Given the description of an element on the screen output the (x, y) to click on. 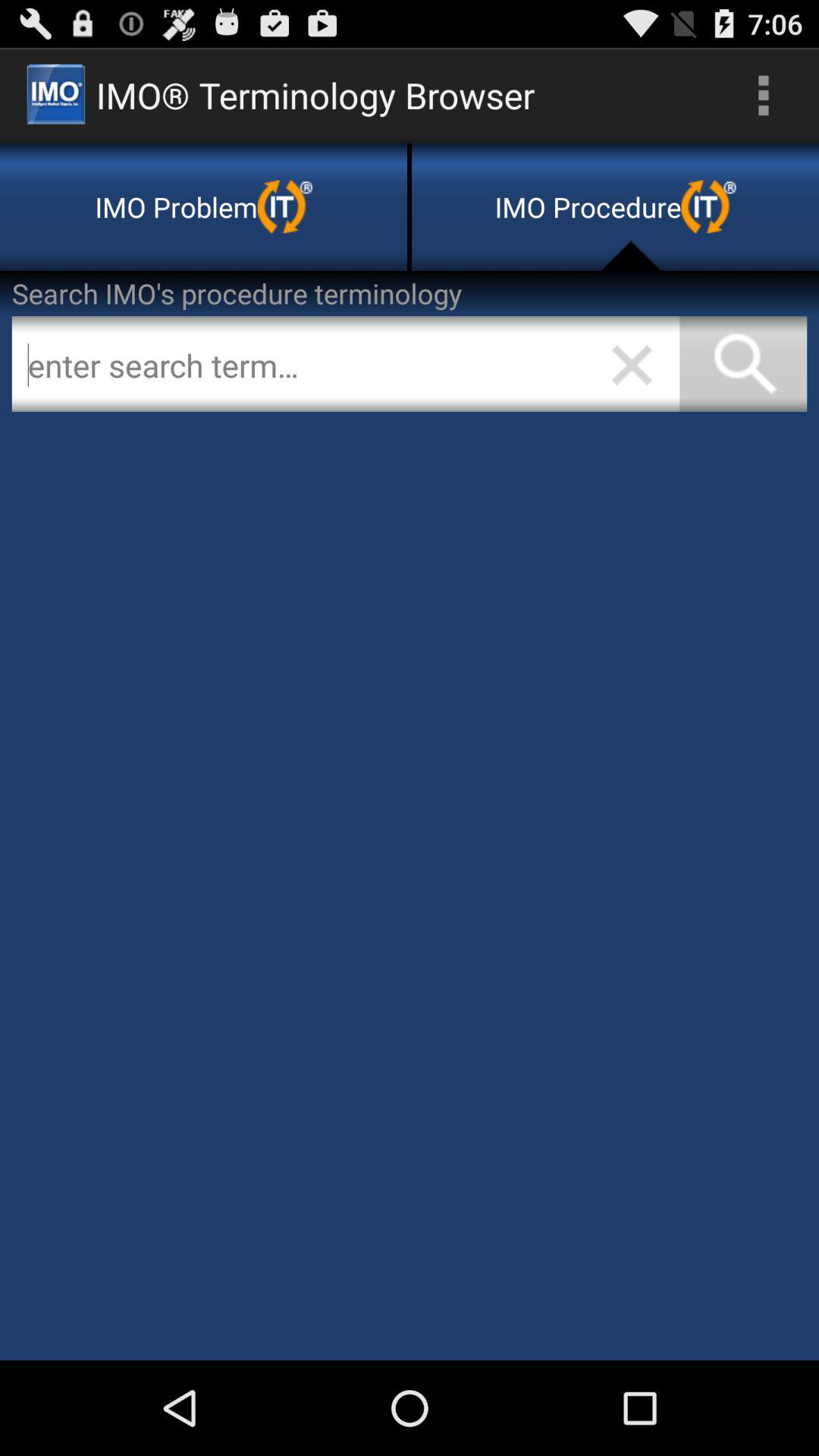
type search term (345, 363)
